Given the description of an element on the screen output the (x, y) to click on. 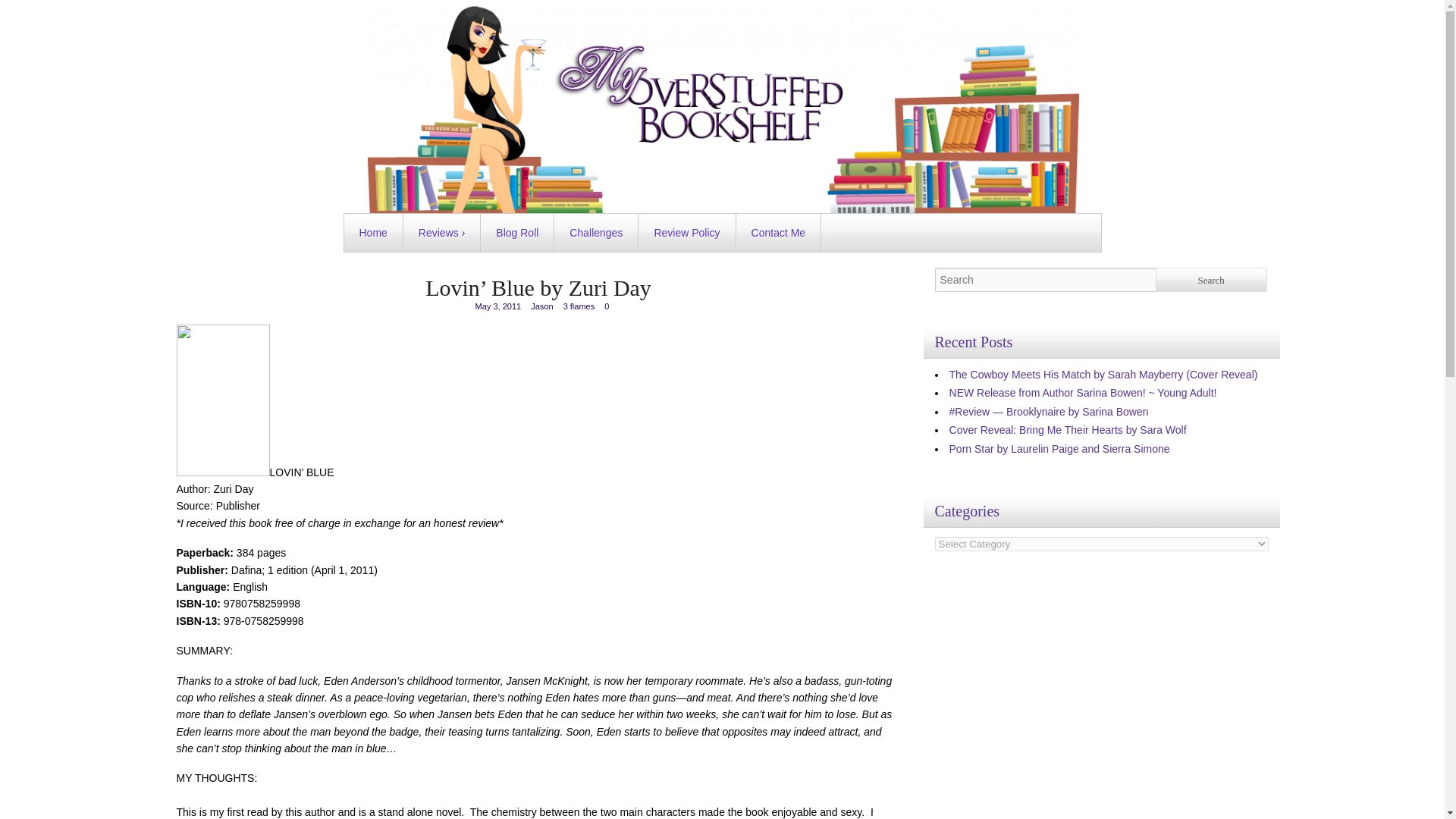
Blog Roll (516, 232)
0 (606, 306)
3 flames (579, 306)
Contact Me (778, 232)
Posts by Jason (542, 306)
Jason (542, 306)
Search (1211, 279)
Home (373, 232)
Review Policy (687, 232)
Cover Reveal: Bring Me Their Hearts by Sara Wolf (1067, 429)
Porn Star by Laurelin Paige and Sierra Simone (1059, 449)
Challenges (595, 232)
